Given the description of an element on the screen output the (x, y) to click on. 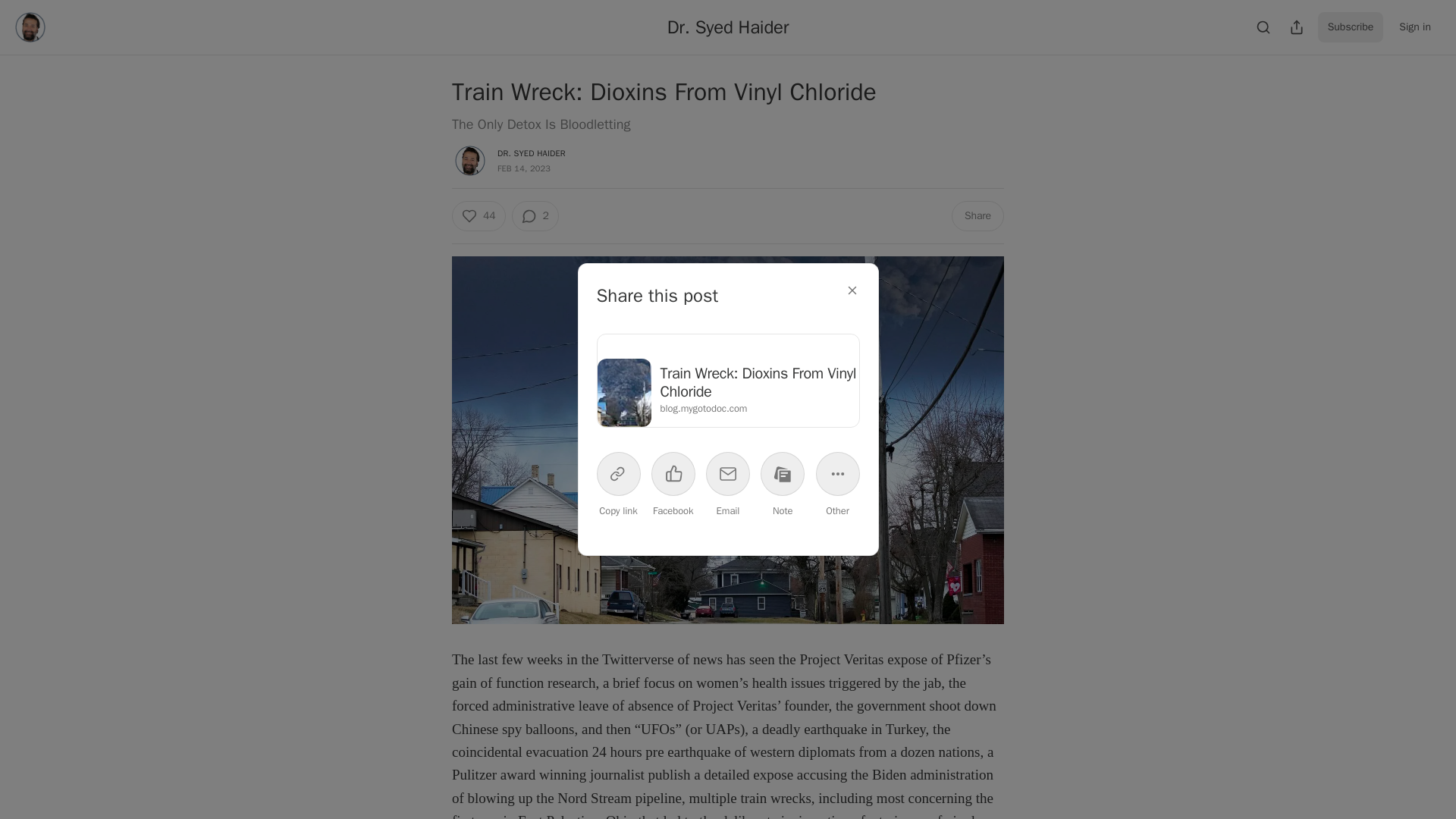
44 (478, 215)
Sign in (1415, 27)
2 (534, 215)
Subscribe (1350, 27)
DR. SYED HAIDER (531, 153)
Share (978, 215)
Dr. Syed Haider (727, 26)
